Given the description of an element on the screen output the (x, y) to click on. 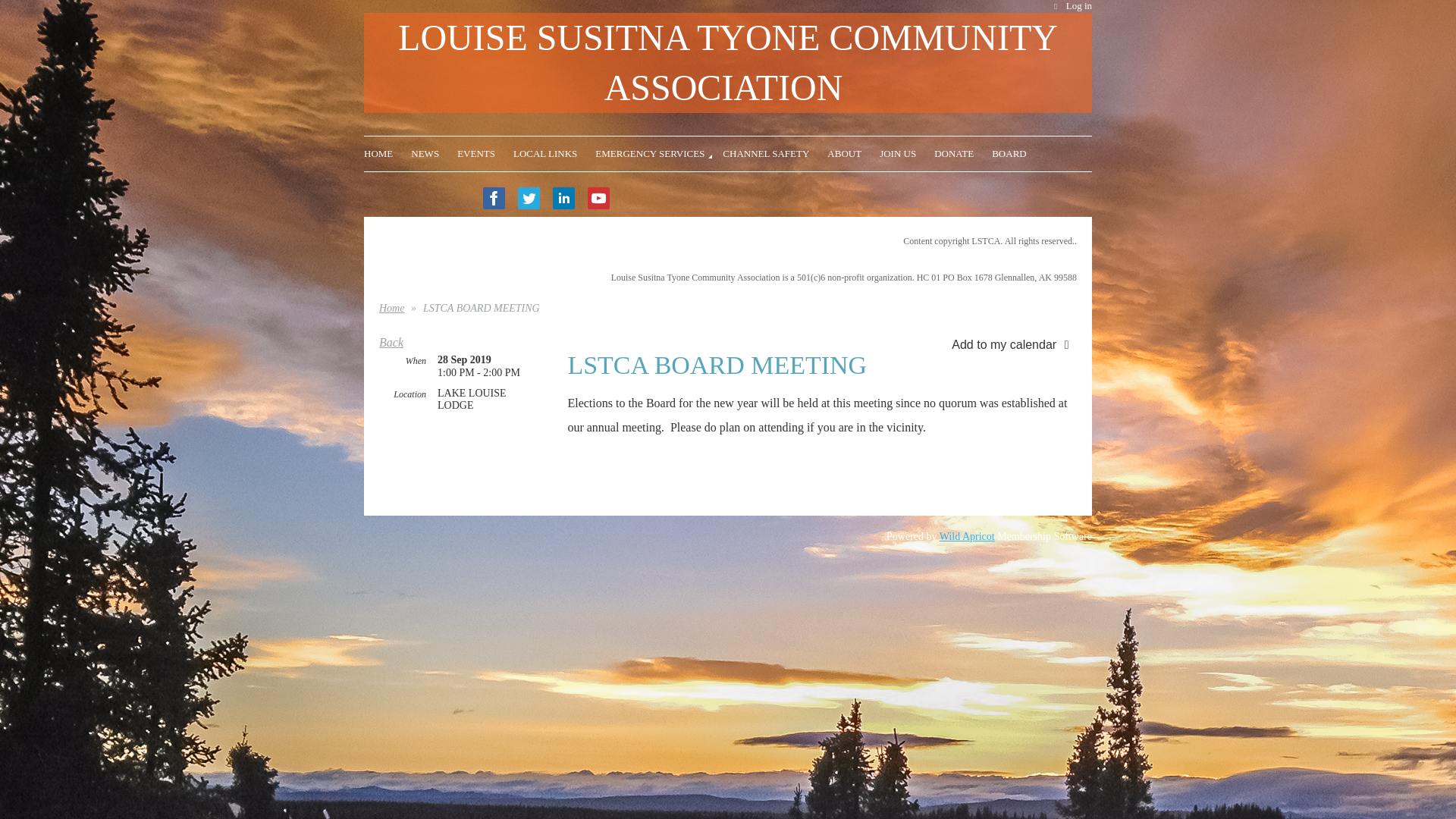
Home (387, 151)
News (433, 151)
LOCAL LINKS (554, 151)
BOARD (1008, 151)
Back (390, 341)
CHANNEL SAFETY (774, 151)
Wild Apricot (966, 536)
Emergency Services (658, 151)
JOIN US (906, 151)
HOME (387, 151)
